Given the description of an element on the screen output the (x, y) to click on. 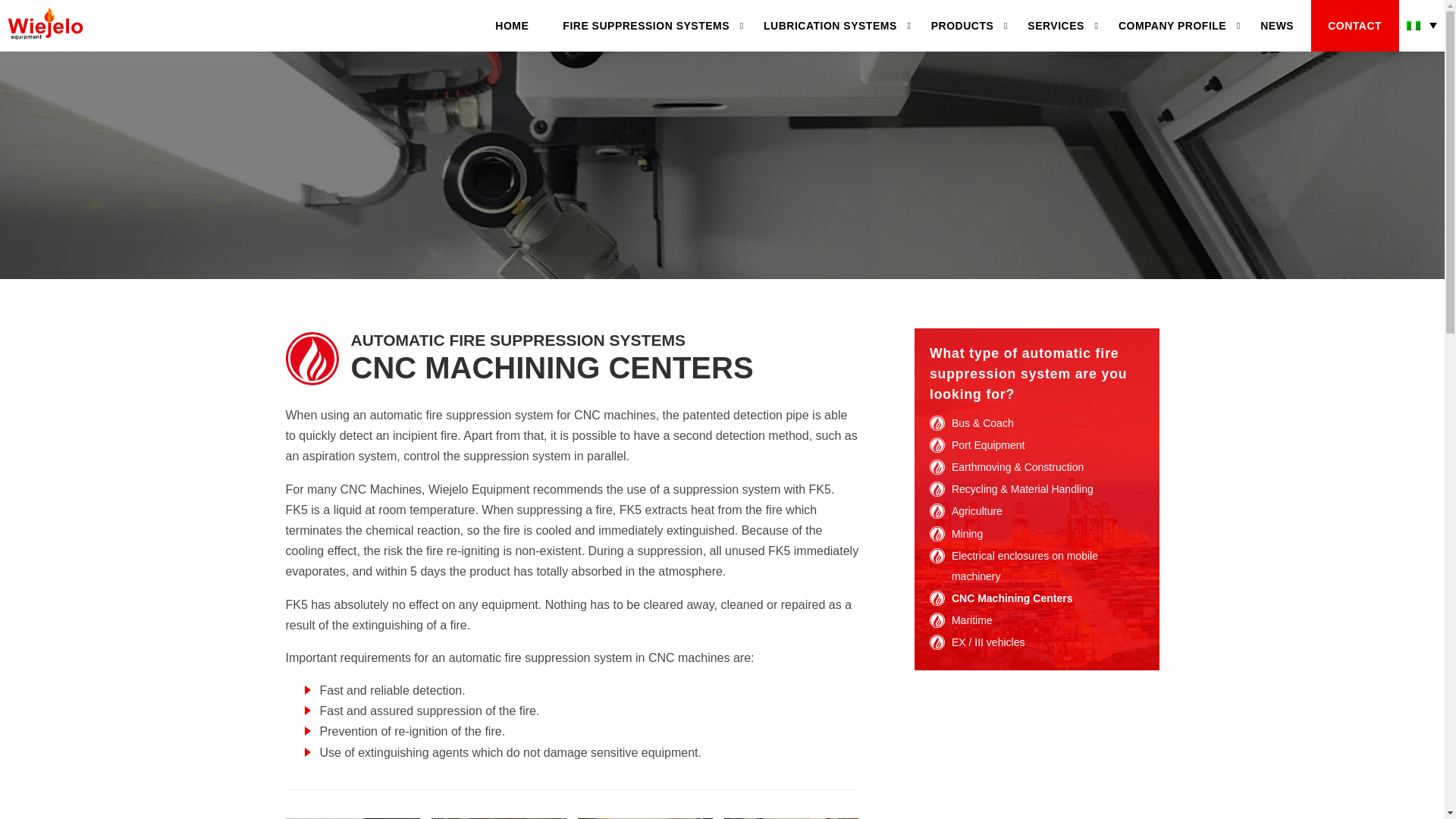
FIRE SUPPRESSION SYSTEMS (646, 25)
LUBRICATION SYSTEMS (830, 25)
HOME (512, 25)
COMPANY PROFILE (1171, 25)
SERVICES (1056, 25)
PRODUCTS (961, 25)
